Given the description of an element on the screen output the (x, y) to click on. 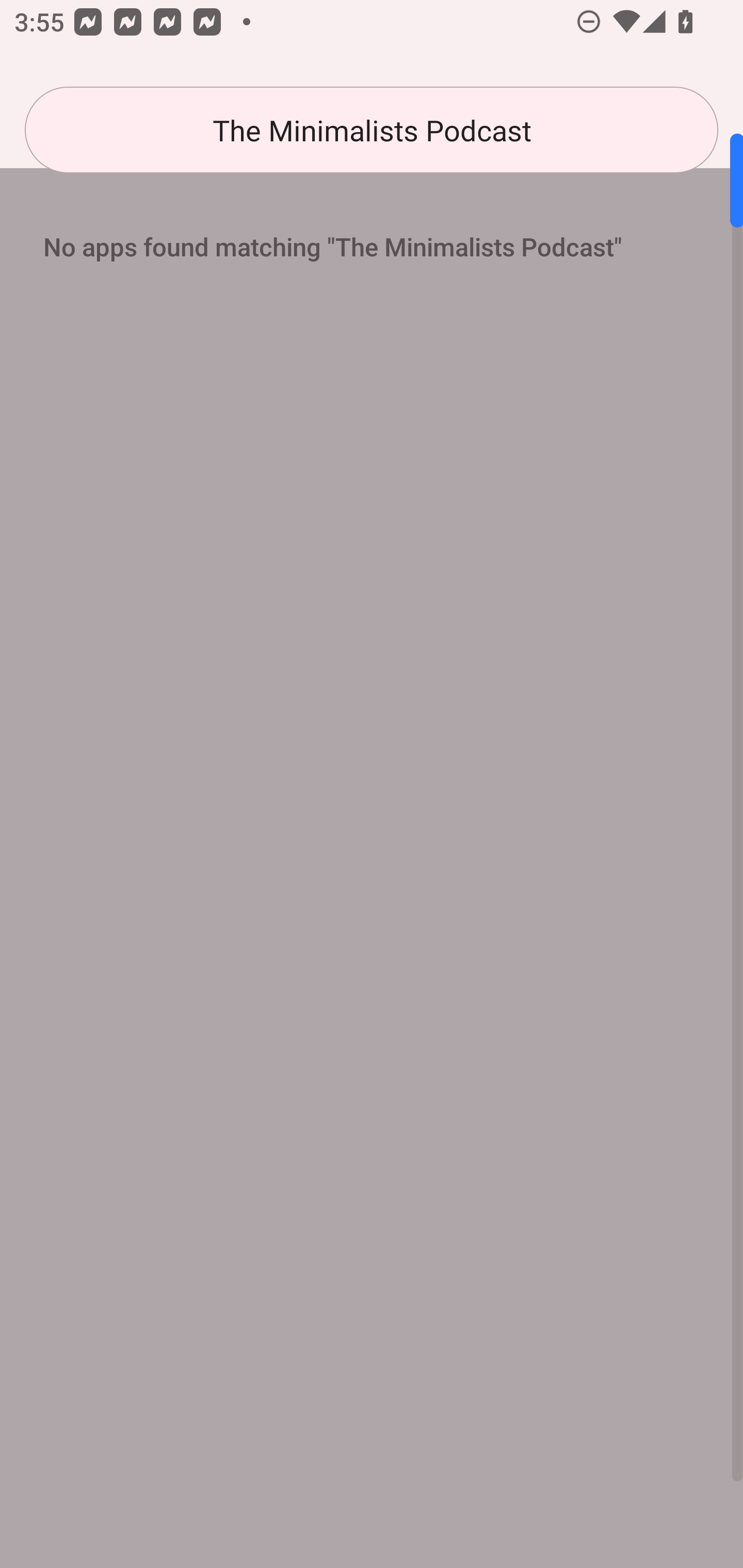
The Minimalists Podcast (371, 130)
